Given the description of an element on the screen output the (x, y) to click on. 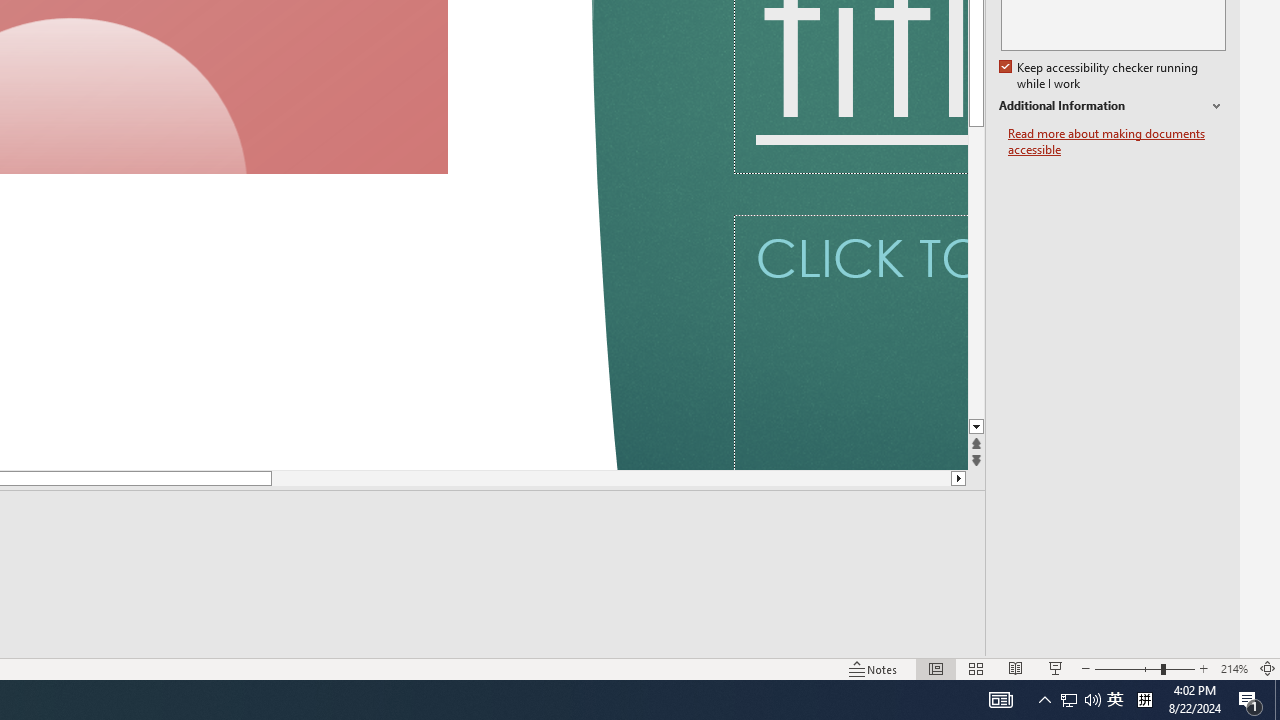
Keep accessibility checker running while I work (1099, 76)
Read more about making documents accessible (1117, 142)
Line down (976, 427)
Additional Information (1112, 106)
Zoom 214% (1234, 668)
Subtitle TextBox (850, 342)
Page down (572, 478)
Notes  (874, 668)
